Given the description of an element on the screen output the (x, y) to click on. 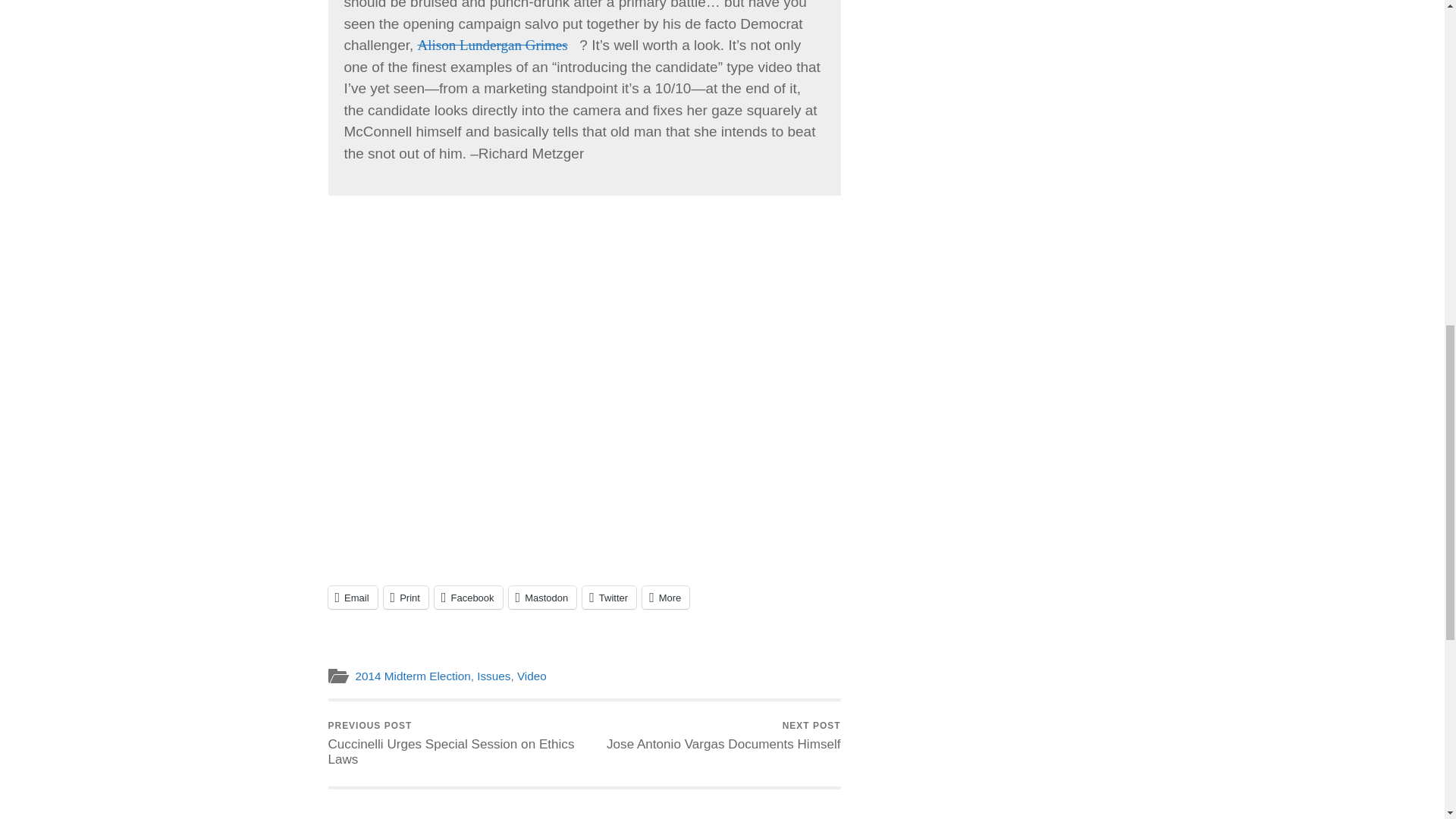
Mastodon (542, 597)
Alison Lundergan Grimes (498, 44)
Click to share on Twitter (609, 597)
Facebook (467, 597)
Click to email a link to a friend (352, 597)
Click to share on Mastodon (542, 597)
Click to share on Facebook (467, 597)
Click to print (406, 597)
Print (406, 597)
Email (352, 597)
